Given the description of an element on the screen output the (x, y) to click on. 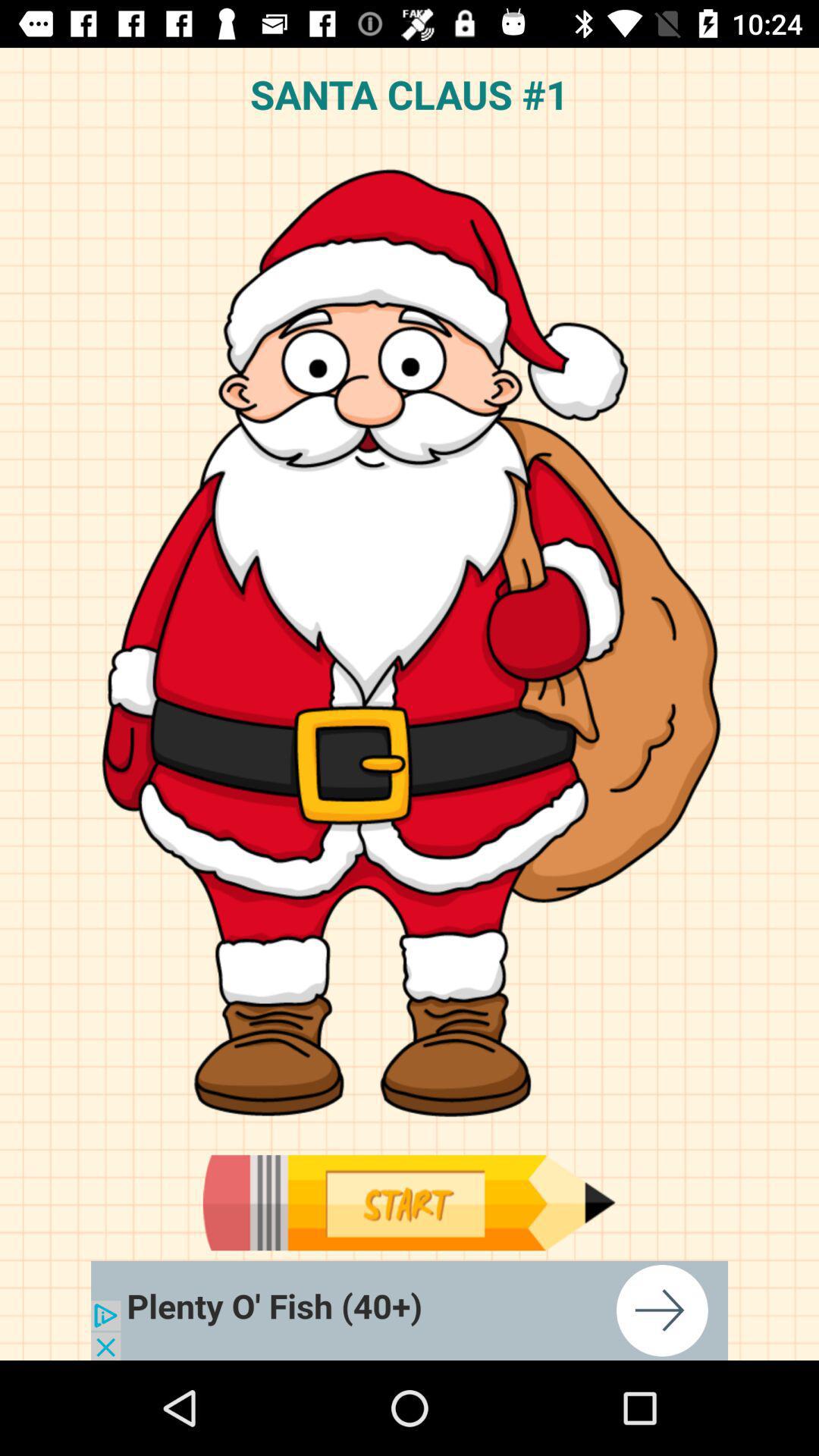
go to plenty o fish advertisement (409, 1310)
